Given the description of an element on the screen output the (x, y) to click on. 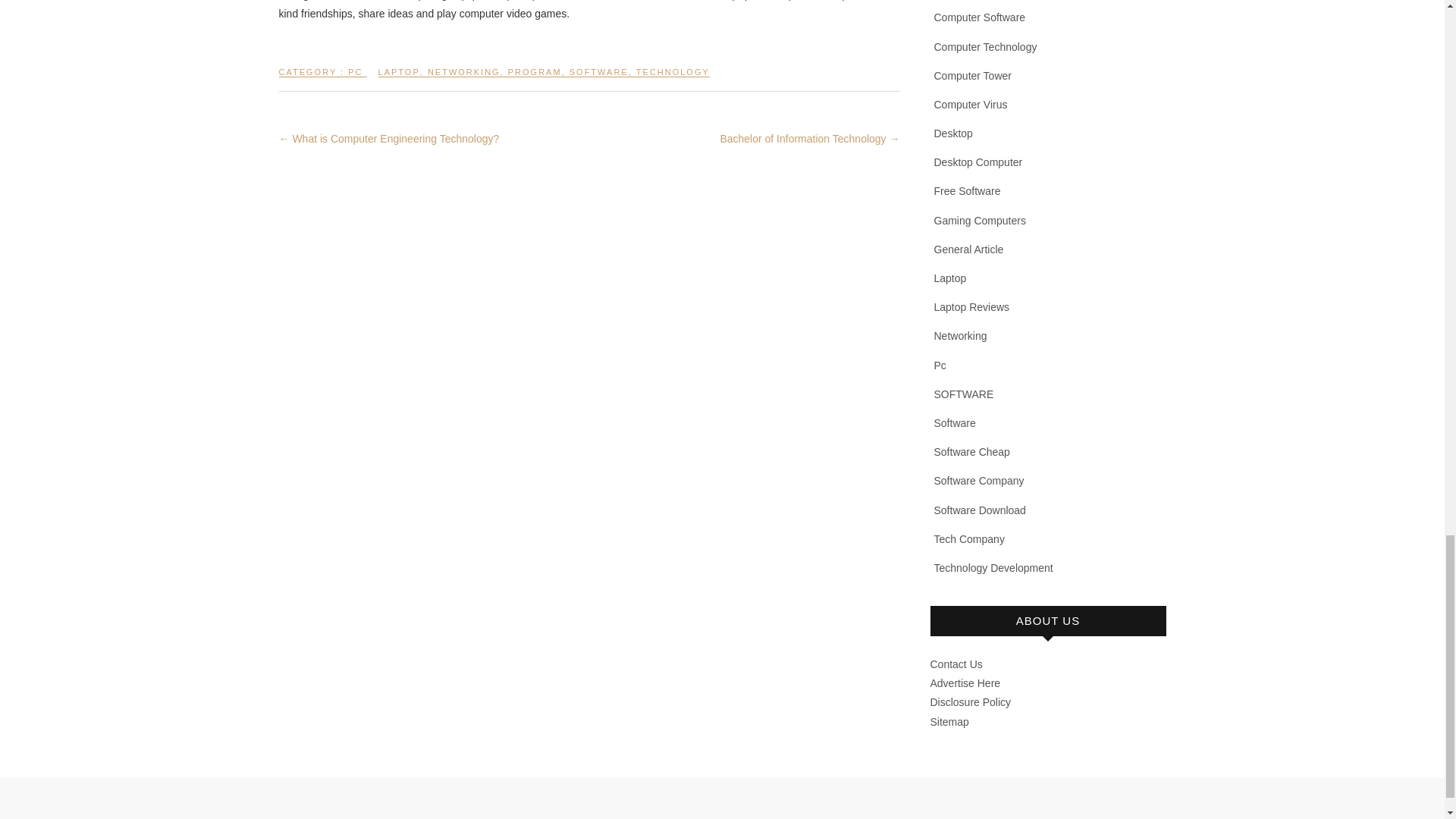
PROGRAM (535, 78)
NETWORKING (464, 78)
LAPTOP (399, 78)
